Given the description of an element on the screen output the (x, y) to click on. 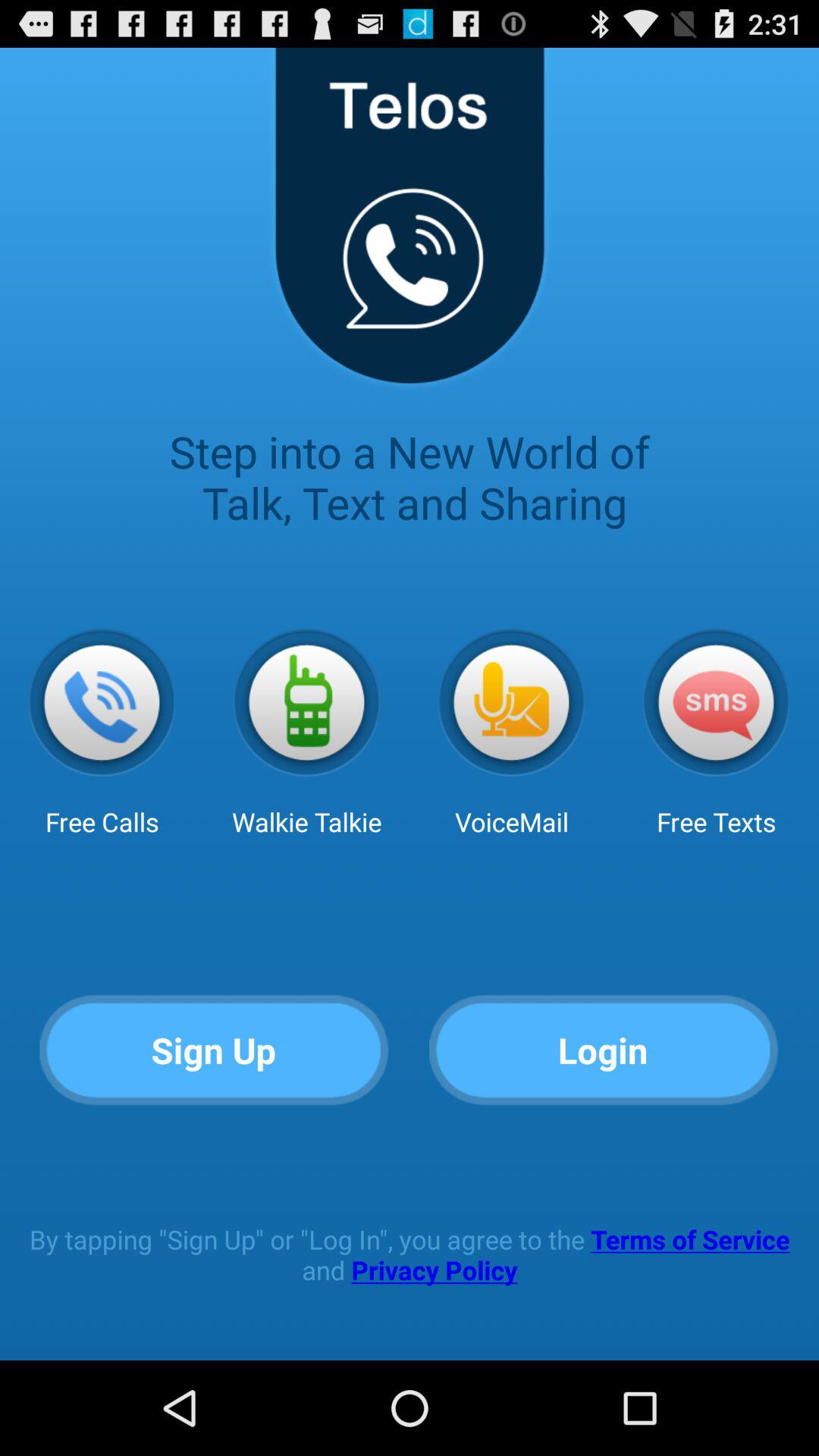
flip until login item (604, 1050)
